Given the description of an element on the screen output the (x, y) to click on. 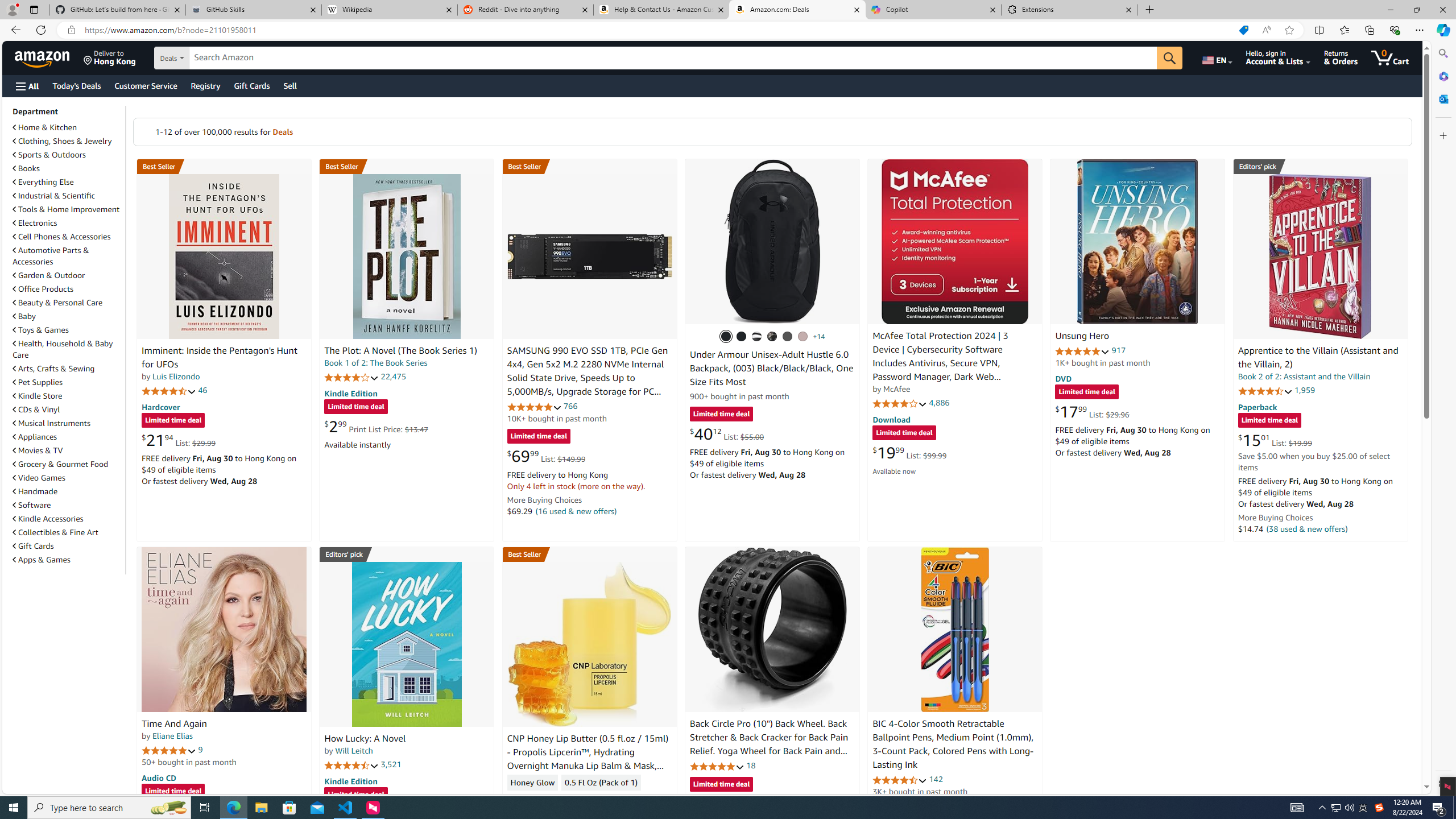
How Lucky: A Novel (365, 738)
Search Amazon (673, 57)
Extensions (1068, 9)
Will Leitch (353, 750)
Kindle Accessories (67, 518)
$15.01 List: $19.99 (1274, 439)
Beauty & Personal Care (67, 301)
$40.12 List: $55.00 (726, 433)
Home & Kitchen (45, 127)
$2.99 Print List Price: $13.47 (376, 426)
Health, Household & Baby Care (63, 349)
